Given the description of an element on the screen output the (x, y) to click on. 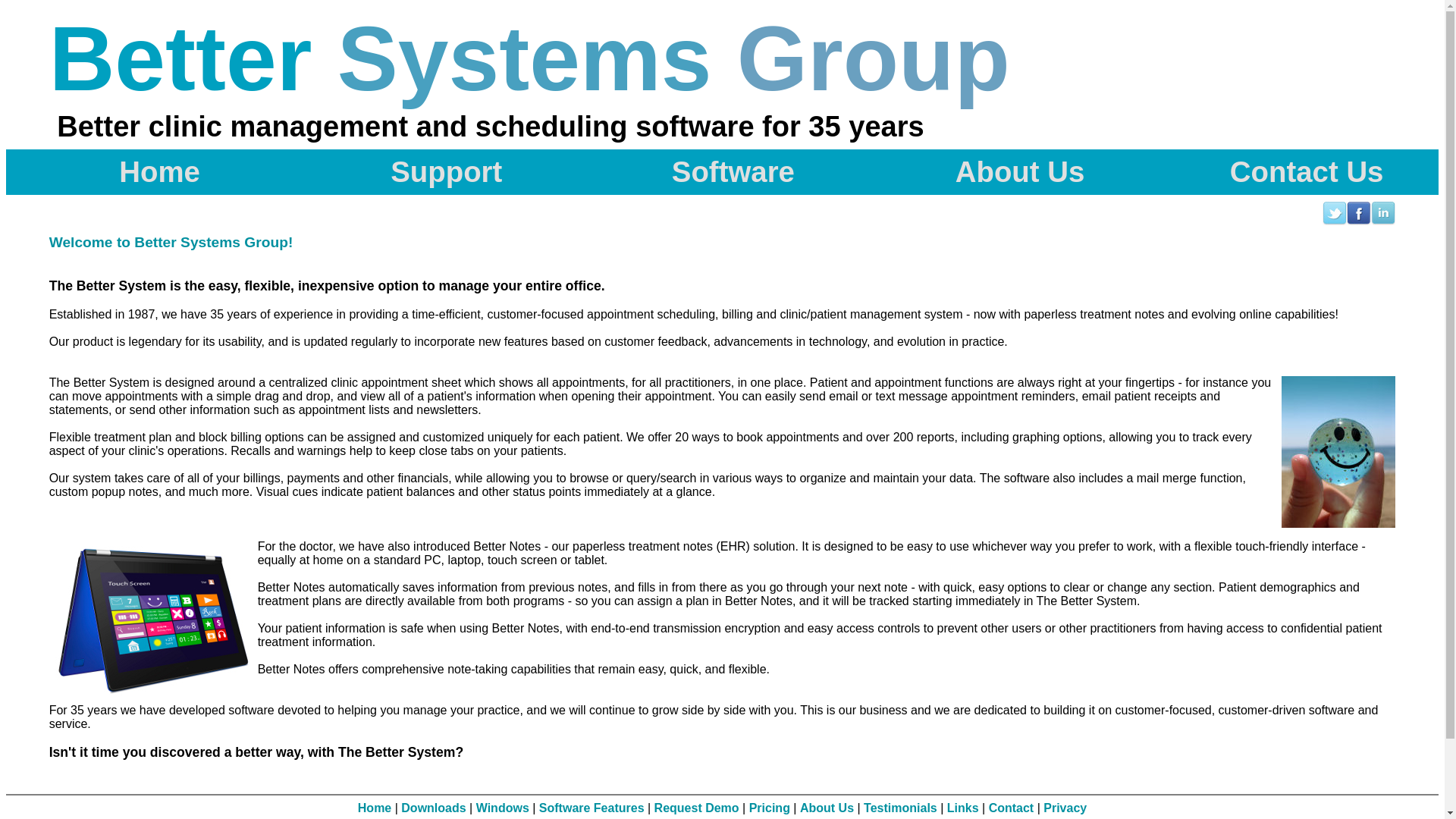
Privacy Element type: text (1064, 807)
Downloads Element type: text (433, 807)
Software Features Element type: text (591, 807)
Contact Element type: text (1011, 807)
Request Demo Element type: text (696, 807)
Links Element type: text (963, 807)
Testimonials Element type: text (900, 807)
Contact Us Element type: text (1295, 171)
Support Element type: text (435, 171)
Software Element type: text (722, 171)
Home Element type: text (374, 807)
Windows Element type: text (502, 807)
Pricing Element type: text (769, 807)
Home Element type: text (148, 171)
About Us Element type: text (826, 807)
About Us Element type: text (1008, 171)
